Given the description of an element on the screen output the (x, y) to click on. 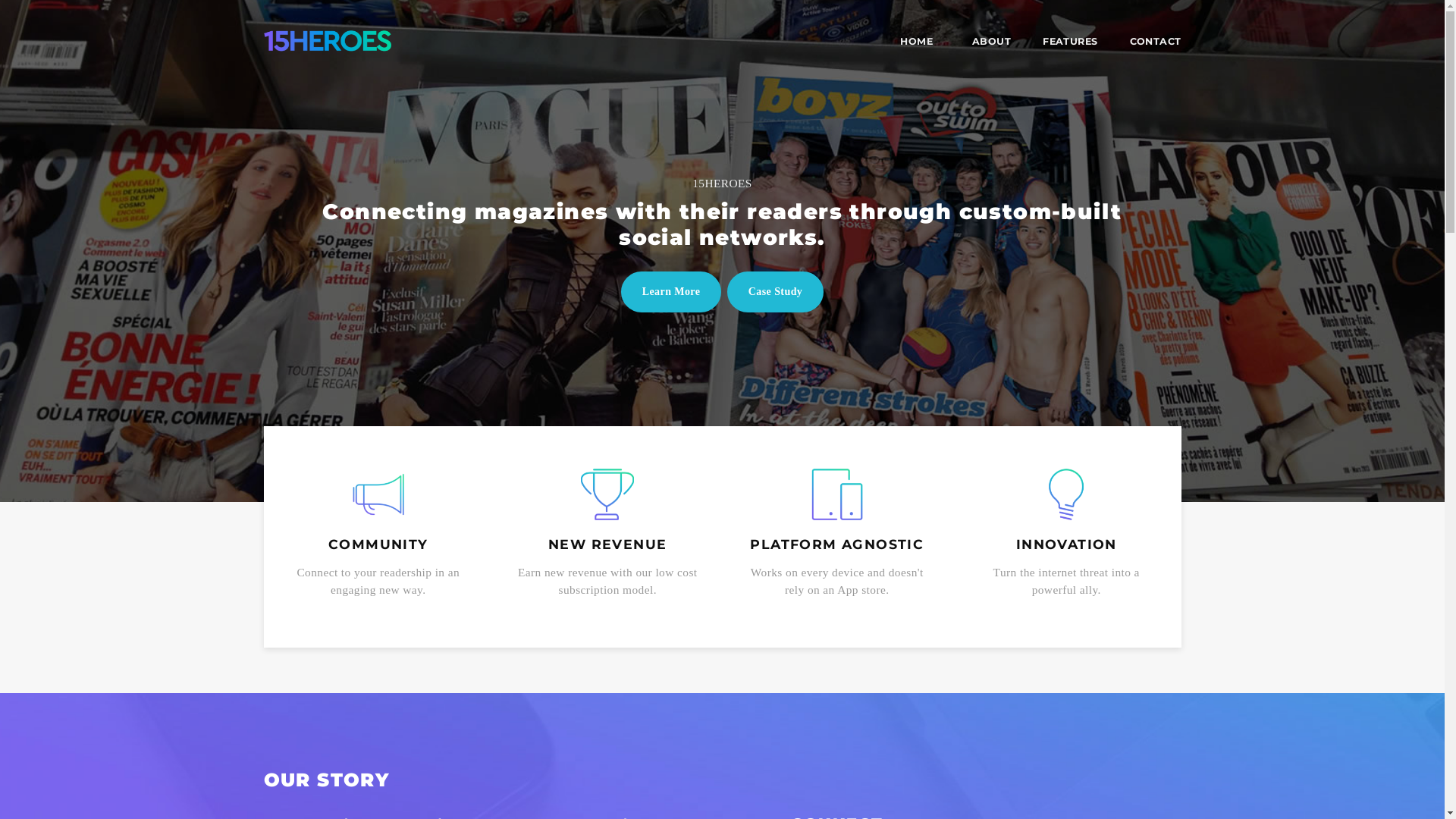
FEATURES Element type: text (1069, 41)
HOME Element type: text (916, 41)
CONTACT Element type: text (1147, 41)
Case Study Element type: text (775, 291)
Learn More Element type: text (671, 291)
Read More Element type: text (290, 626)
BEBOYZ Element type: text (683, 593)
020 3633 0700 Element type: text (933, 593)
info@15Heroes.com Element type: text (946, 630)
ABOUT Element type: text (991, 41)
